Given the description of an element on the screen output the (x, y) to click on. 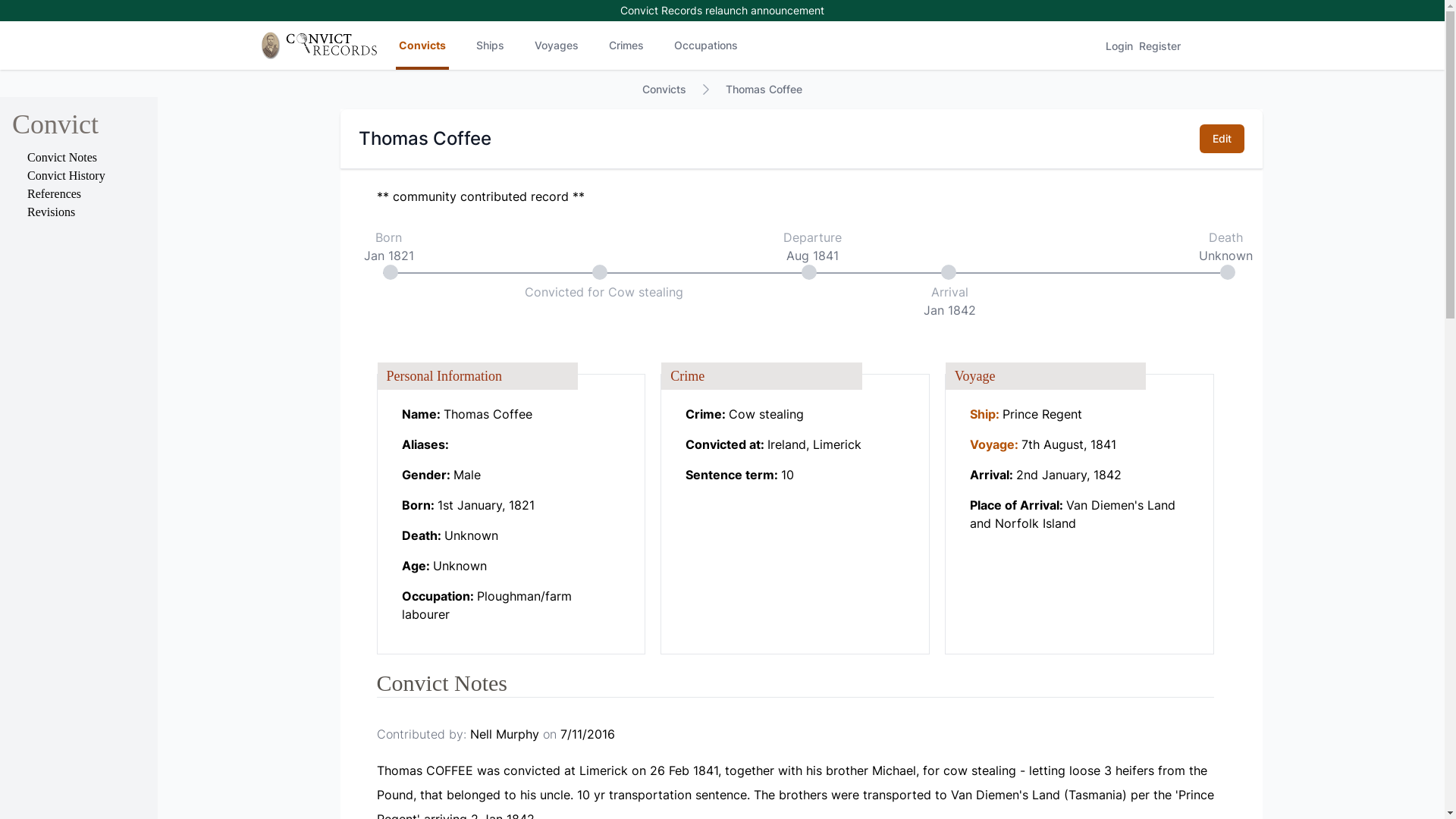
Occupations Element type: text (705, 45)
Convict Notes Element type: text (441, 682)
Convict Notes Element type: text (62, 156)
Convicts Element type: text (664, 89)
Ship: Element type: text (985, 413)
Ships Element type: text (490, 45)
Voyage: Element type: text (995, 443)
Revisions Element type: text (51, 211)
Crimes Element type: text (625, 45)
Register Element type: text (1159, 45)
Convict History Element type: text (66, 175)
Voyages Element type: text (556, 45)
Convicts Element type: text (421, 45)
Thomas Coffee Element type: text (763, 89)
Edit Element type: text (1221, 138)
Convict Records relaunch announcement Element type: text (722, 9)
Login Element type: text (1118, 45)
References Element type: text (54, 193)
